Given the description of an element on the screen output the (x, y) to click on. 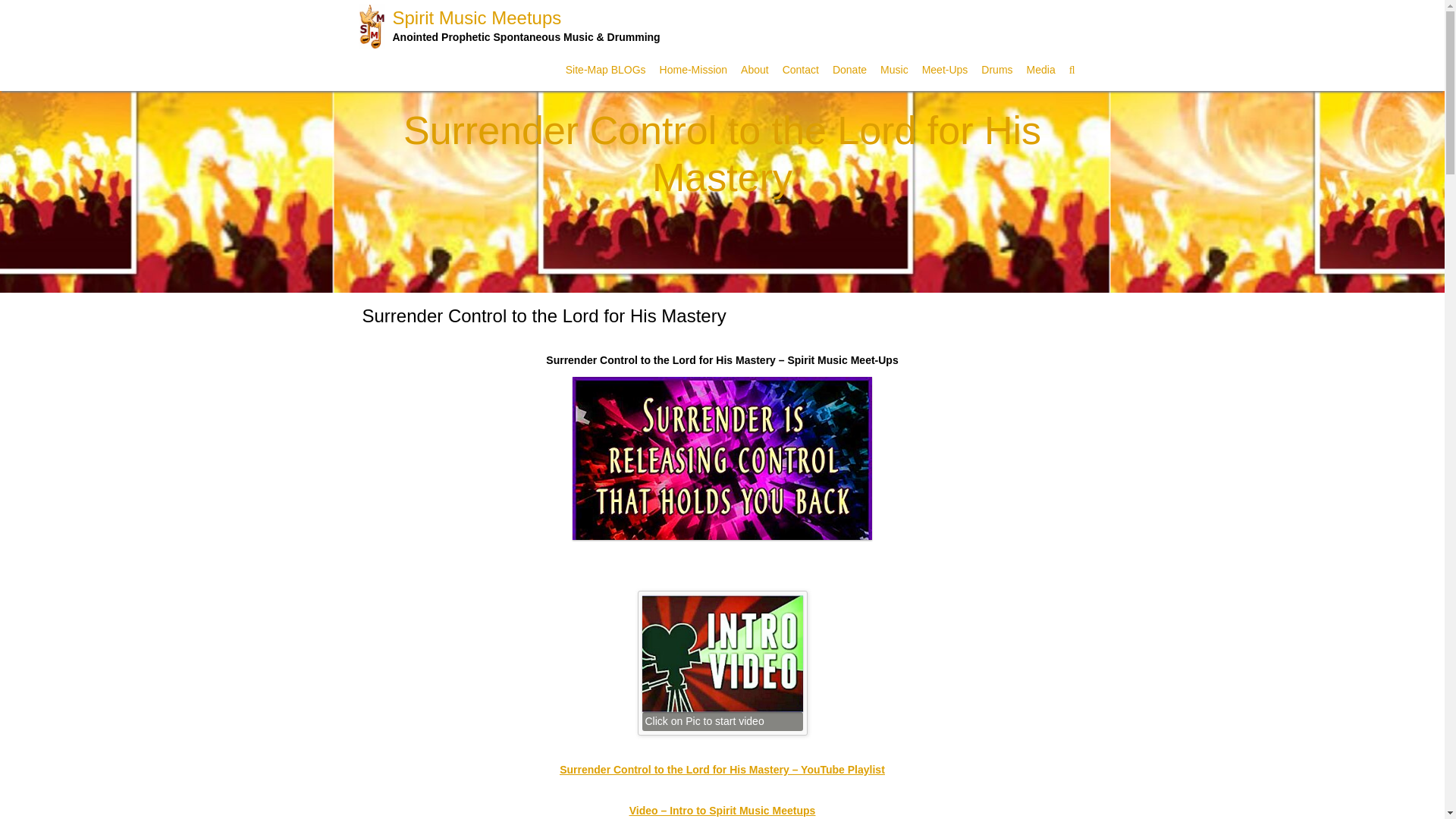
Meet-Ups (945, 69)
Spirit Music Meetups (527, 25)
Drums (996, 69)
Home-Mission (693, 69)
Contact (800, 69)
Donate (849, 69)
Site-Map BLOGs (605, 69)
Spirit Music Meetups (527, 25)
